Given the description of an element on the screen output the (x, y) to click on. 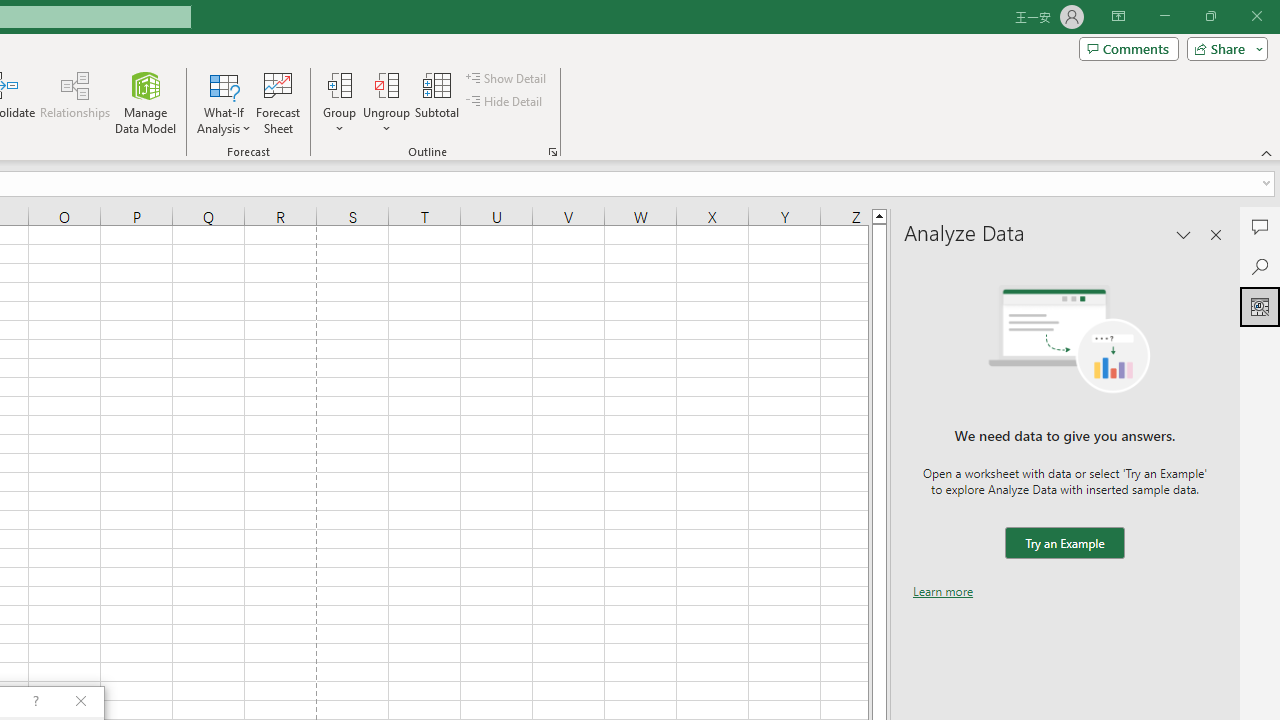
Comments (1128, 48)
Share (1223, 48)
Ungroup... (386, 102)
Ribbon Display Options (1118, 16)
Manage Data Model (145, 102)
More Options (386, 121)
Analyze Data (1260, 306)
Ungroup... (386, 84)
Forecast Sheet (278, 102)
Task Pane Options (1183, 234)
We need data to give you answers. Try an Example (1064, 543)
Restore Down (1210, 16)
What-If Analysis (223, 102)
Relationships (75, 102)
